Given the description of an element on the screen output the (x, y) to click on. 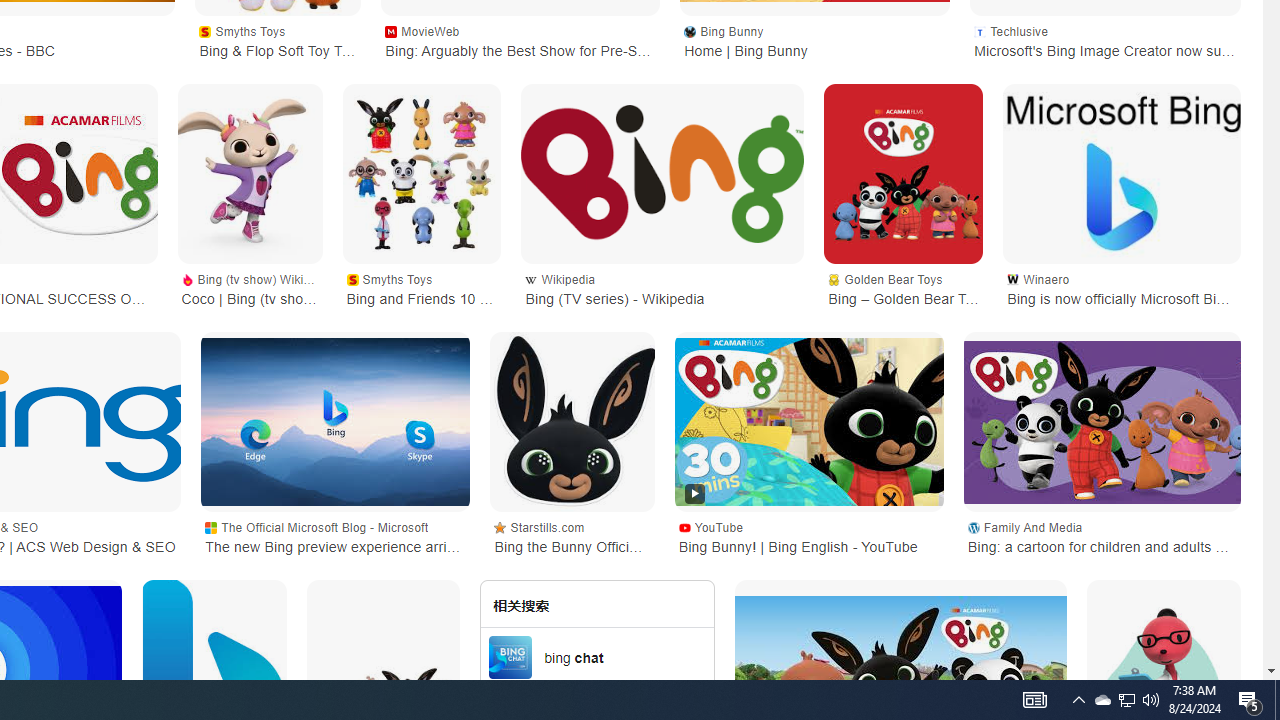
YouTube Bing Bunny! | Bing English - YouTube (809, 535)
bing chat (597, 656)
Starstills.com Bing the Bunny Official 2D Card Party Mask (572, 535)
Bing Bunny Home | Bing Bunny (815, 39)
Bing and Friends 10 Piece Figurine Gift Set | Smyths Toys UK (421, 174)
Bing and Friends 10 Piece Figurine Gift Set | Smyths Toys UK (421, 174)
Coco | Bing (tv show) Wikia | Fandom (249, 174)
Bing (TV series) - Wikipedia (662, 174)
MovieWeb Bing: Arguably the Best Show for Pre-Schoolers (520, 39)
